Given the description of an element on the screen output the (x, y) to click on. 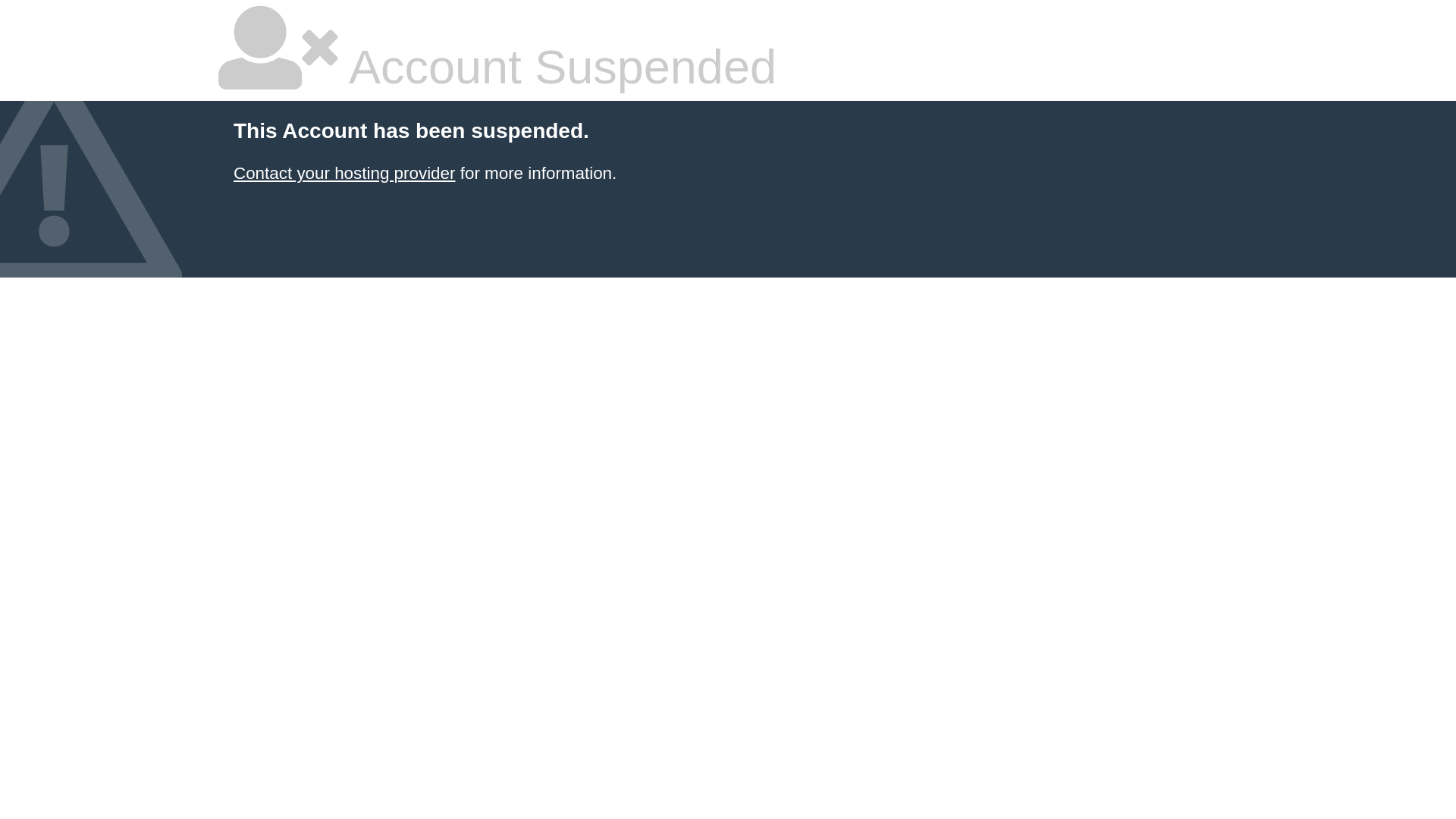
Contact your hosting provider Element type: text (344, 172)
